Given the description of an element on the screen output the (x, y) to click on. 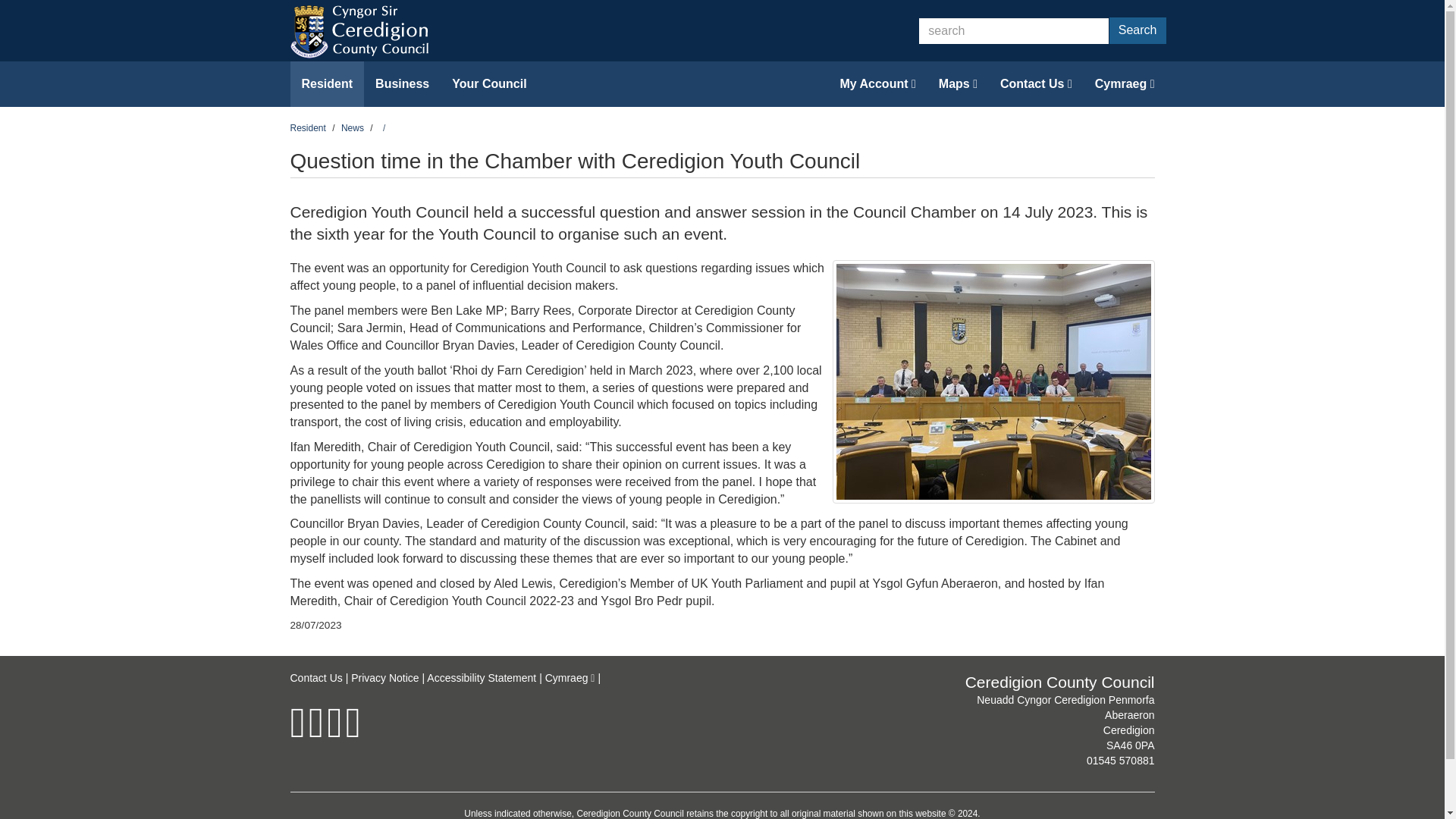
Your Council (489, 84)
Search (1137, 30)
YouTube (353, 733)
Cymraeg (1124, 84)
Instagram (334, 733)
Privacy Notice (384, 677)
YouTube (353, 733)
Instagram (334, 733)
Cymraeg (569, 677)
My Account (877, 84)
Contact Us (1035, 84)
Resident (326, 84)
Twitter (315, 733)
Contact Us (315, 677)
Business (402, 84)
